Given the description of an element on the screen output the (x, y) to click on. 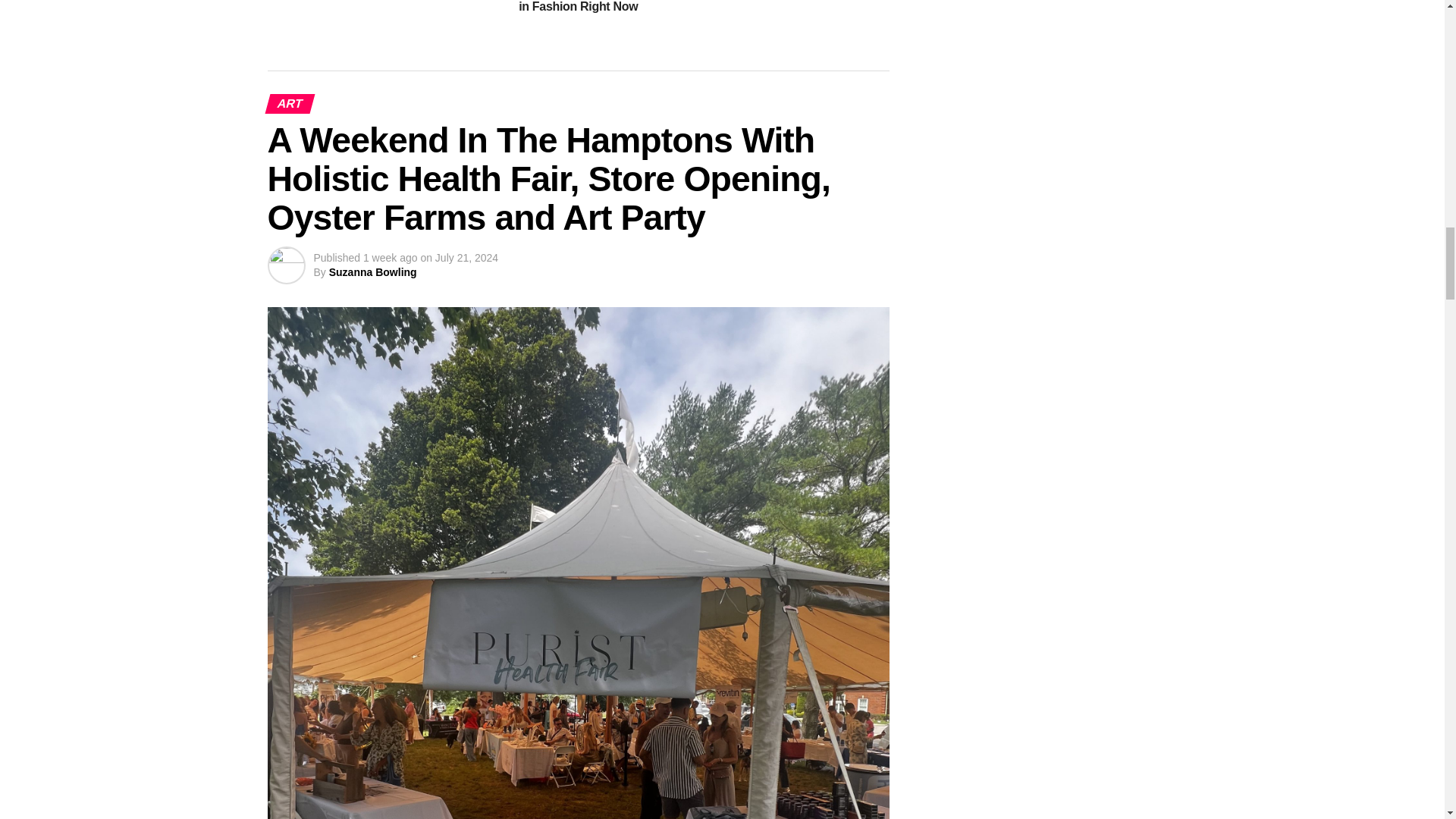
Posts by Suzanna Bowling (372, 272)
